Given the description of an element on the screen output the (x, y) to click on. 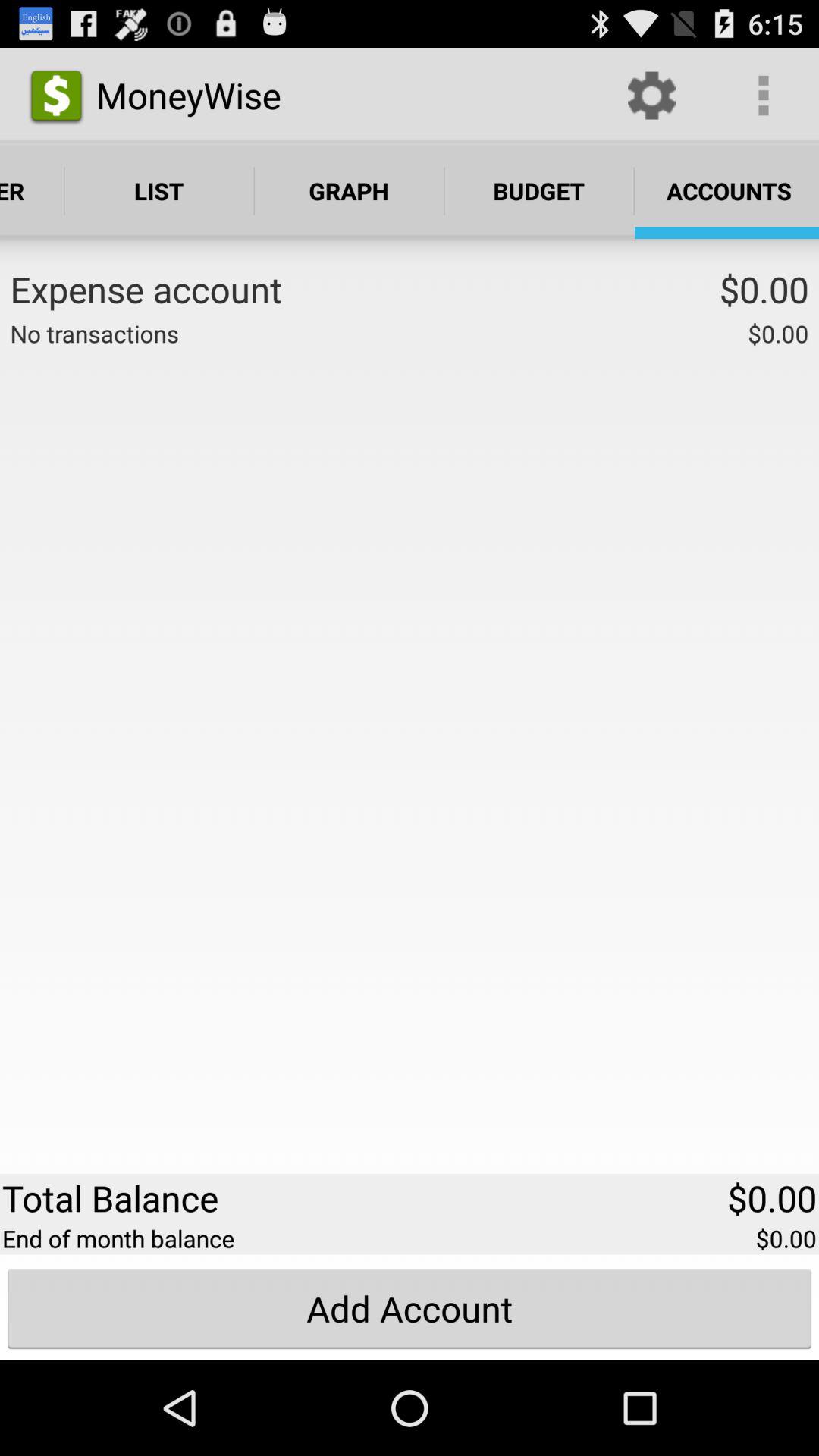
turn on app above accounts app (763, 95)
